Given the description of an element on the screen output the (x, y) to click on. 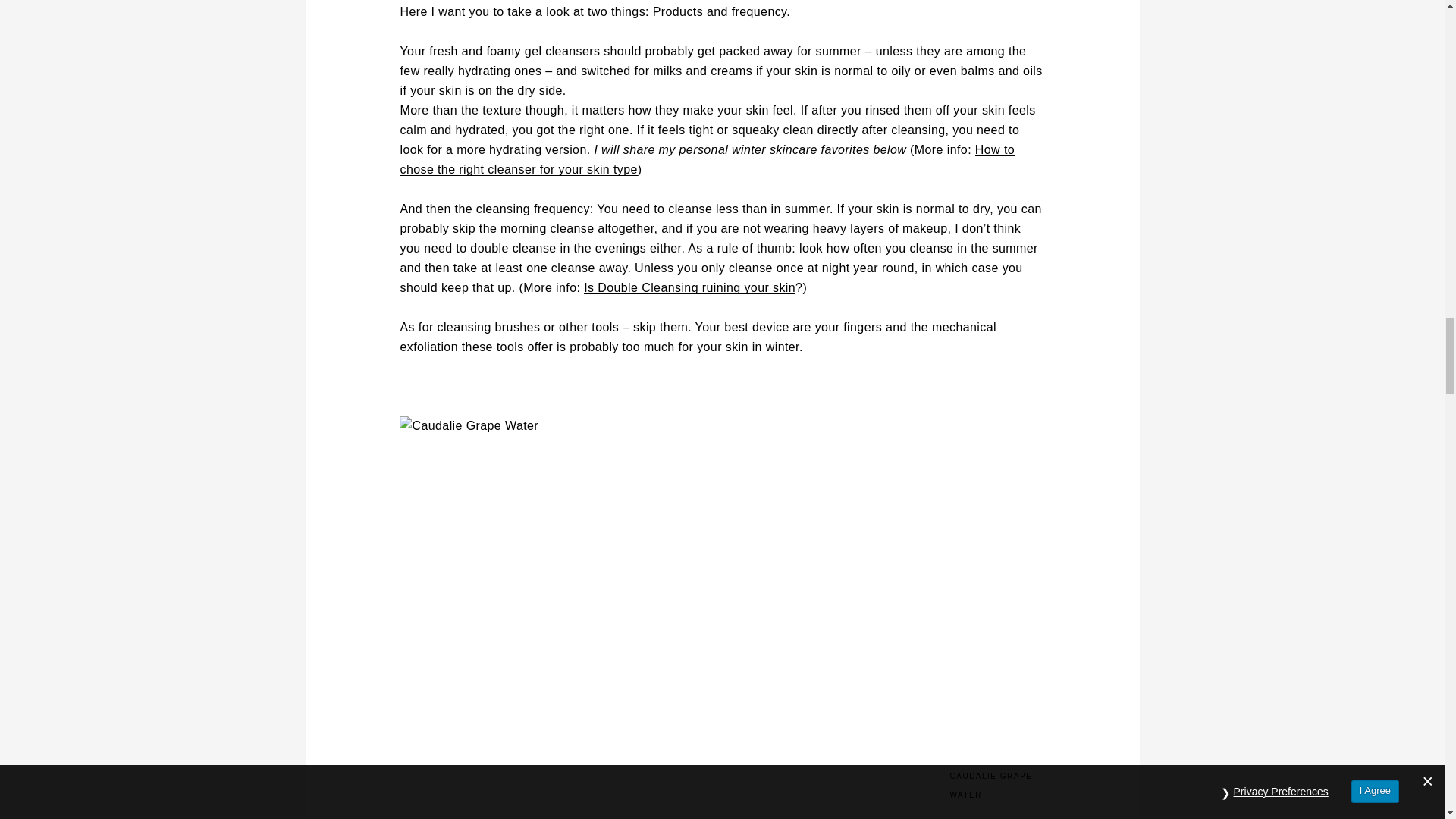
How to choose the best cleanser for your skin type (706, 159)
